Given the description of an element on the screen output the (x, y) to click on. 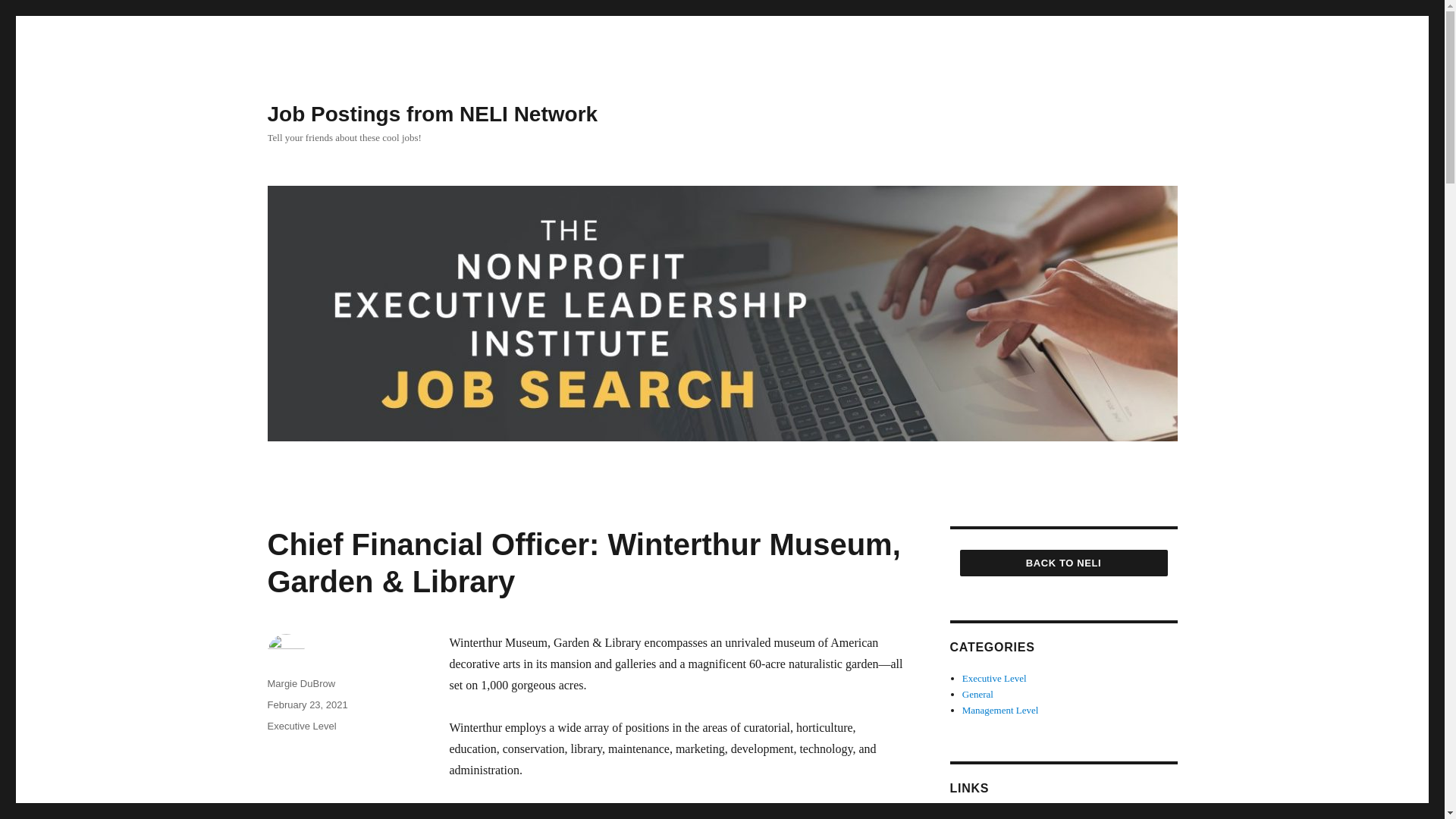
February 23, 2021 (306, 704)
Executive Level (301, 726)
General (977, 694)
Back To NELI (1063, 562)
Executive Level (994, 677)
Idealist.org (984, 816)
Margie DuBrow (300, 683)
Management Level (1000, 709)
Job Postings from NELI Network (431, 114)
